Given the description of an element on the screen output the (x, y) to click on. 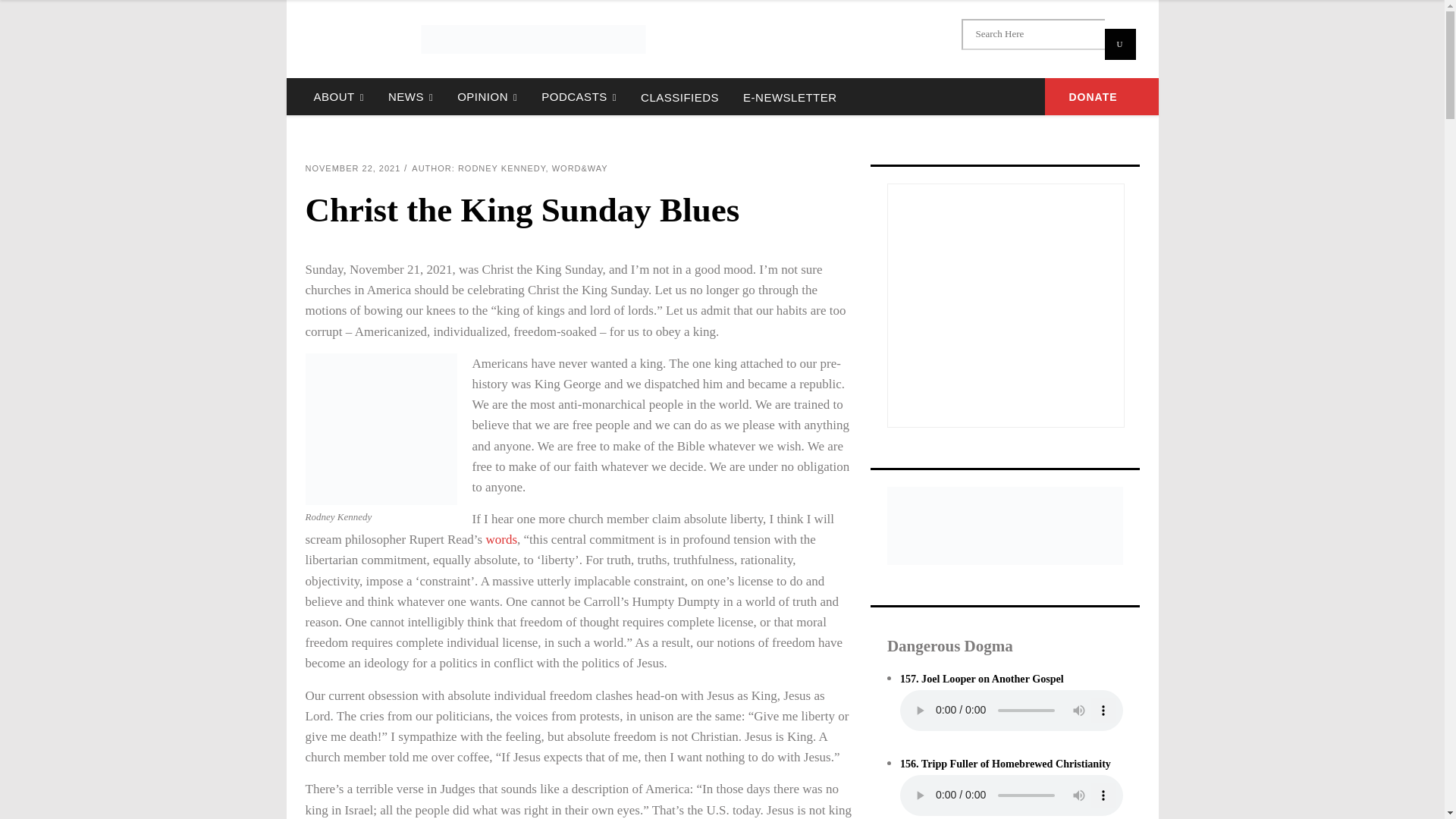
DONATE (1101, 96)
PODCASTS (578, 96)
NEWS (410, 96)
U (1119, 43)
CLASSIFIEDS (679, 96)
U (1119, 43)
U (1119, 43)
ABOUT (338, 96)
E-NEWSLETTER (789, 96)
OPINION (487, 96)
